Given the description of an element on the screen output the (x, y) to click on. 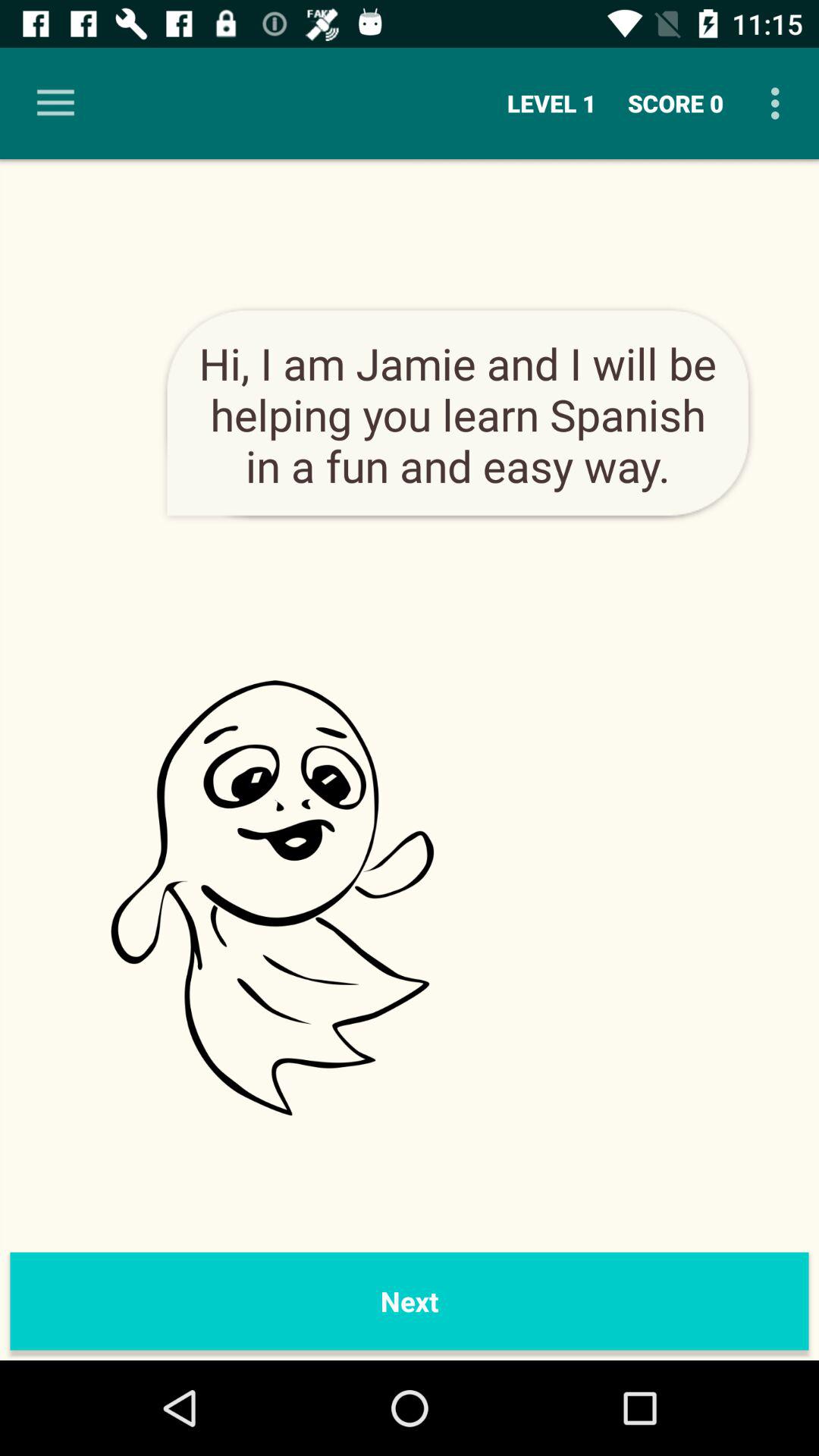
tap the icon to the right of level 1 item (675, 103)
